Given the description of an element on the screen output the (x, y) to click on. 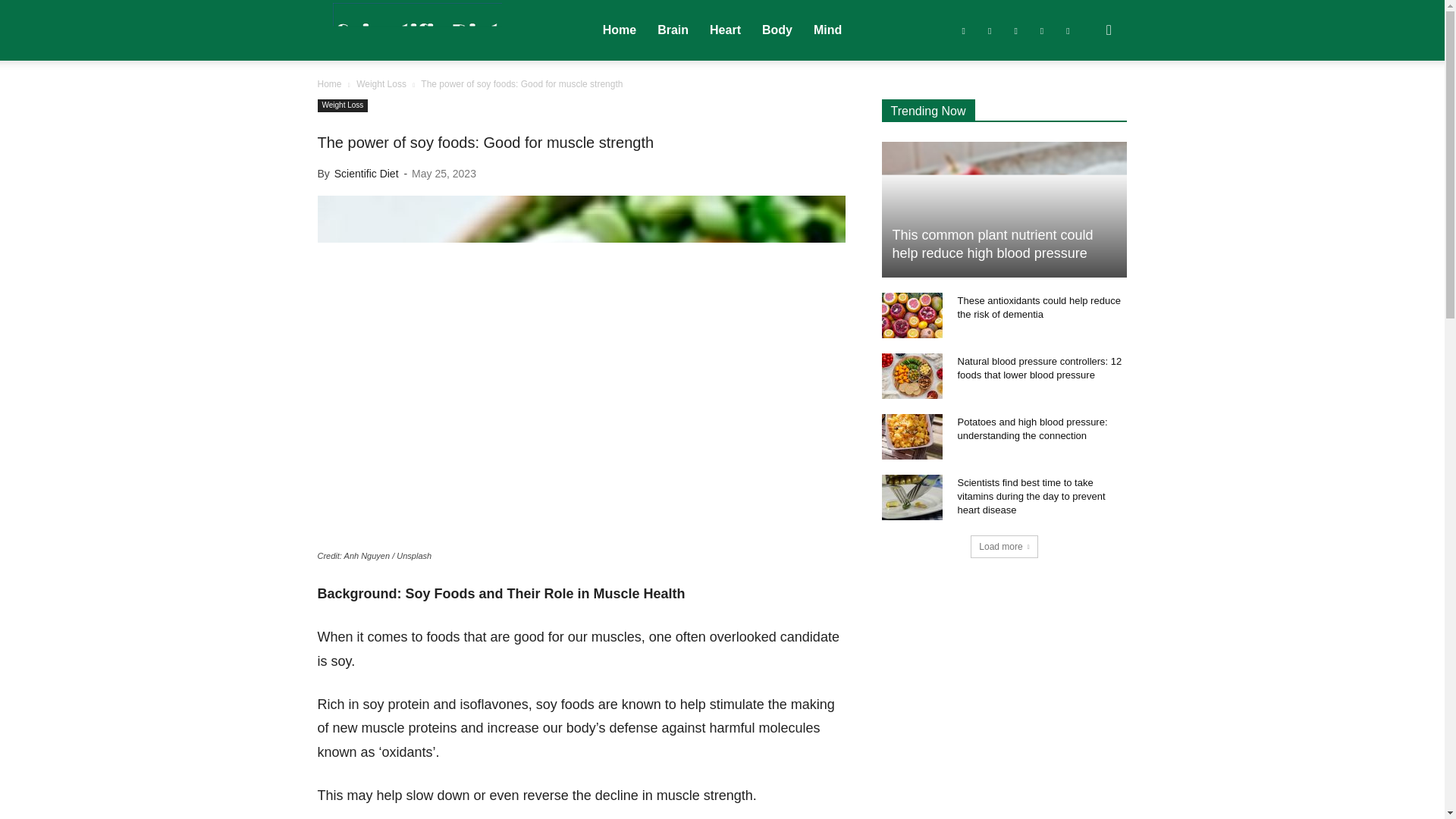
Weight Loss (381, 83)
Home (328, 83)
Scientific Diet (416, 30)
Weight Loss (342, 105)
Scientific Diet (416, 30)
Home (619, 30)
Search (1085, 102)
View all posts in Weight Loss (381, 83)
Scientific Diet (366, 173)
